Given the description of an element on the screen output the (x, y) to click on. 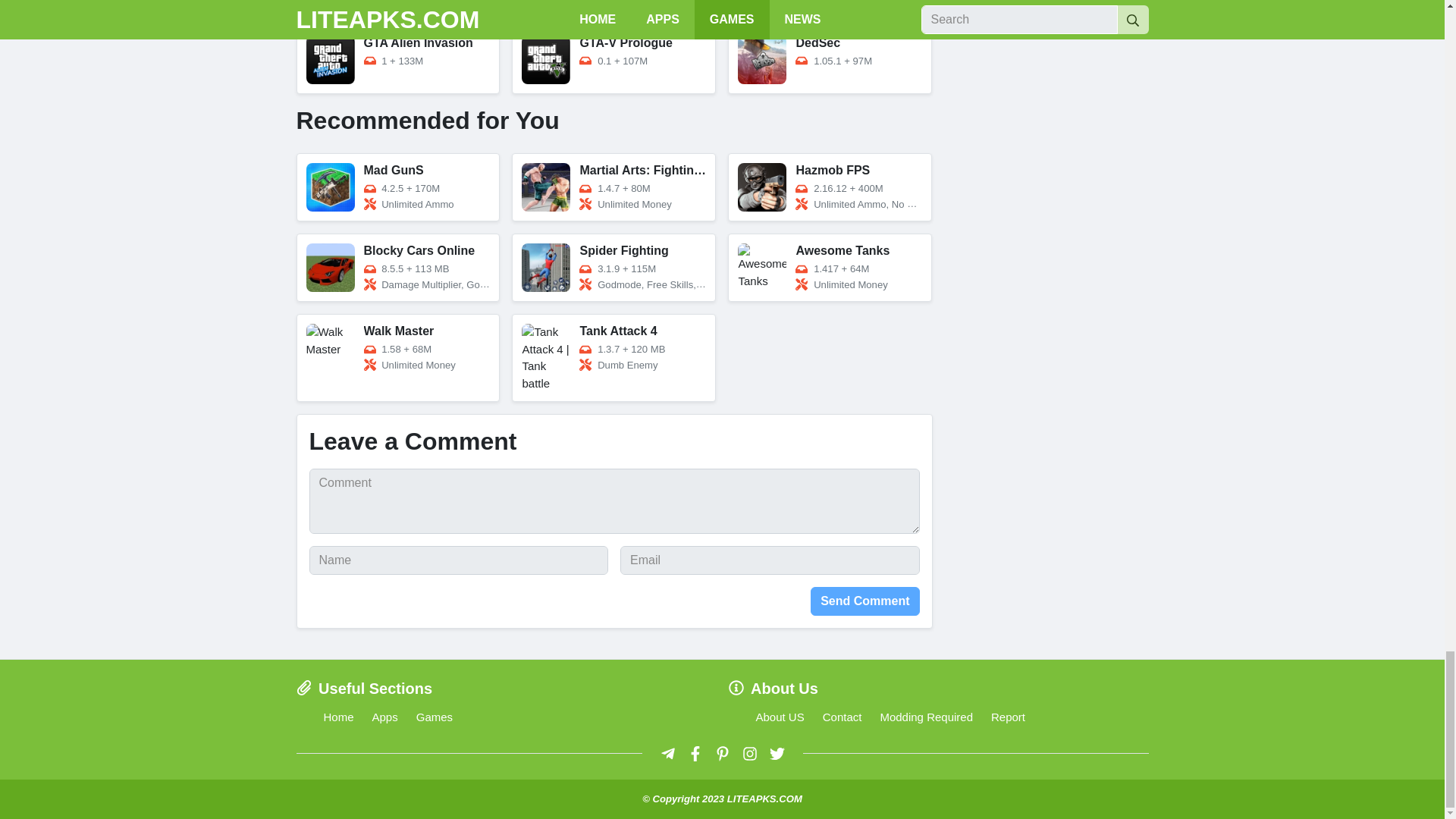
GTA Alien Invasion (397, 59)
DedSec (829, 59)
Walk Master (397, 357)
Martial Arts: Fighting Games (614, 187)
Tank Attack 4 (614, 357)
Hazmob FPS (829, 187)
Awesome Tanks (829, 267)
Mad GunS (397, 187)
GTA-V Prologue (614, 59)
Blocky Cars online games (397, 267)
